Given the description of an element on the screen output the (x, y) to click on. 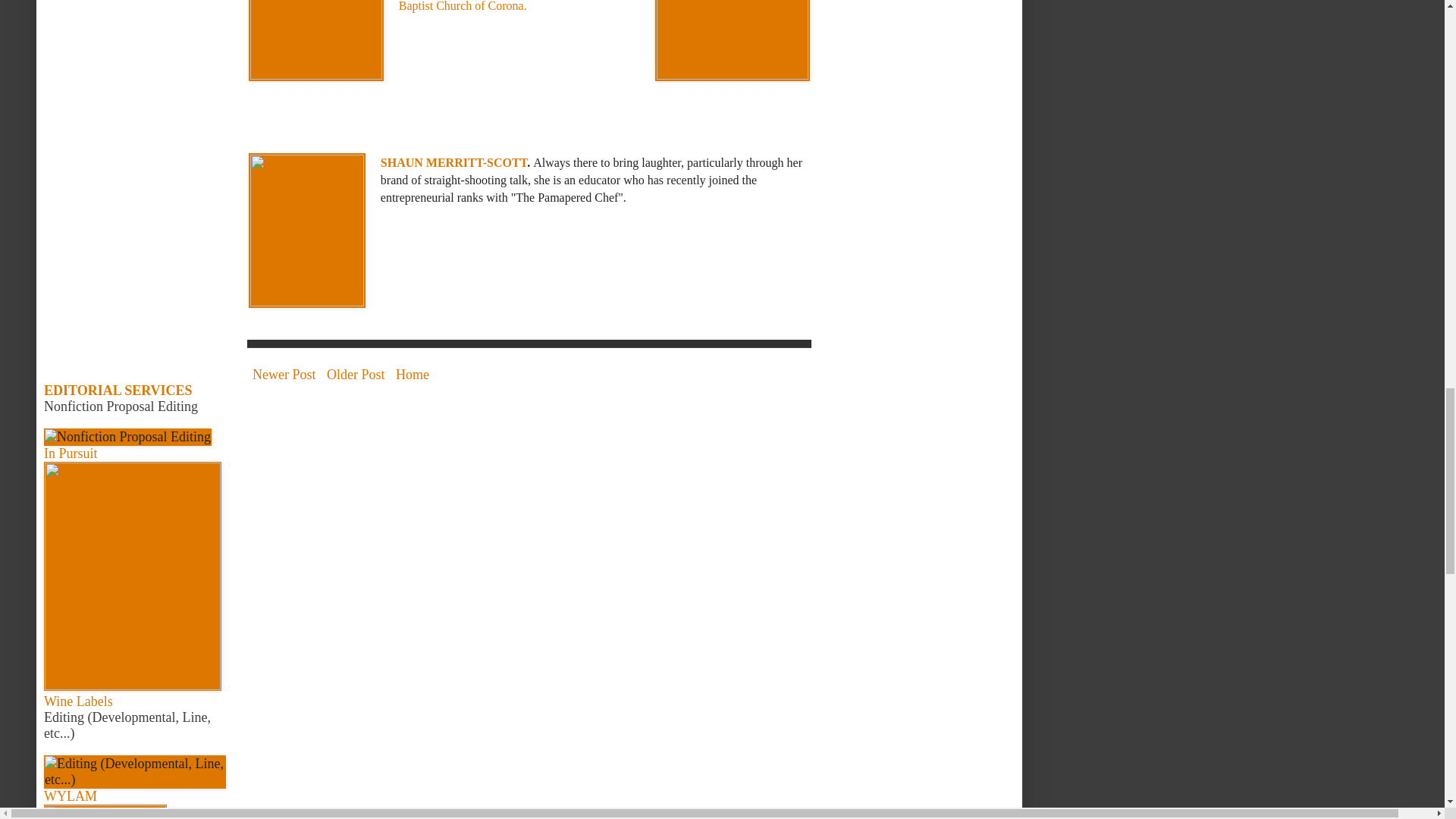
Newer Post (284, 374)
WYLAM (70, 795)
Newer Post (284, 374)
Older Post (355, 374)
Home (411, 374)
In Pursuit (70, 453)
SHAUN MERRITT-SCOTT (453, 162)
EDITORIAL SERVICES (117, 390)
Antioch Baptist Church of Corona. (505, 6)
Wine Labels (78, 701)
